Given the description of an element on the screen output the (x, y) to click on. 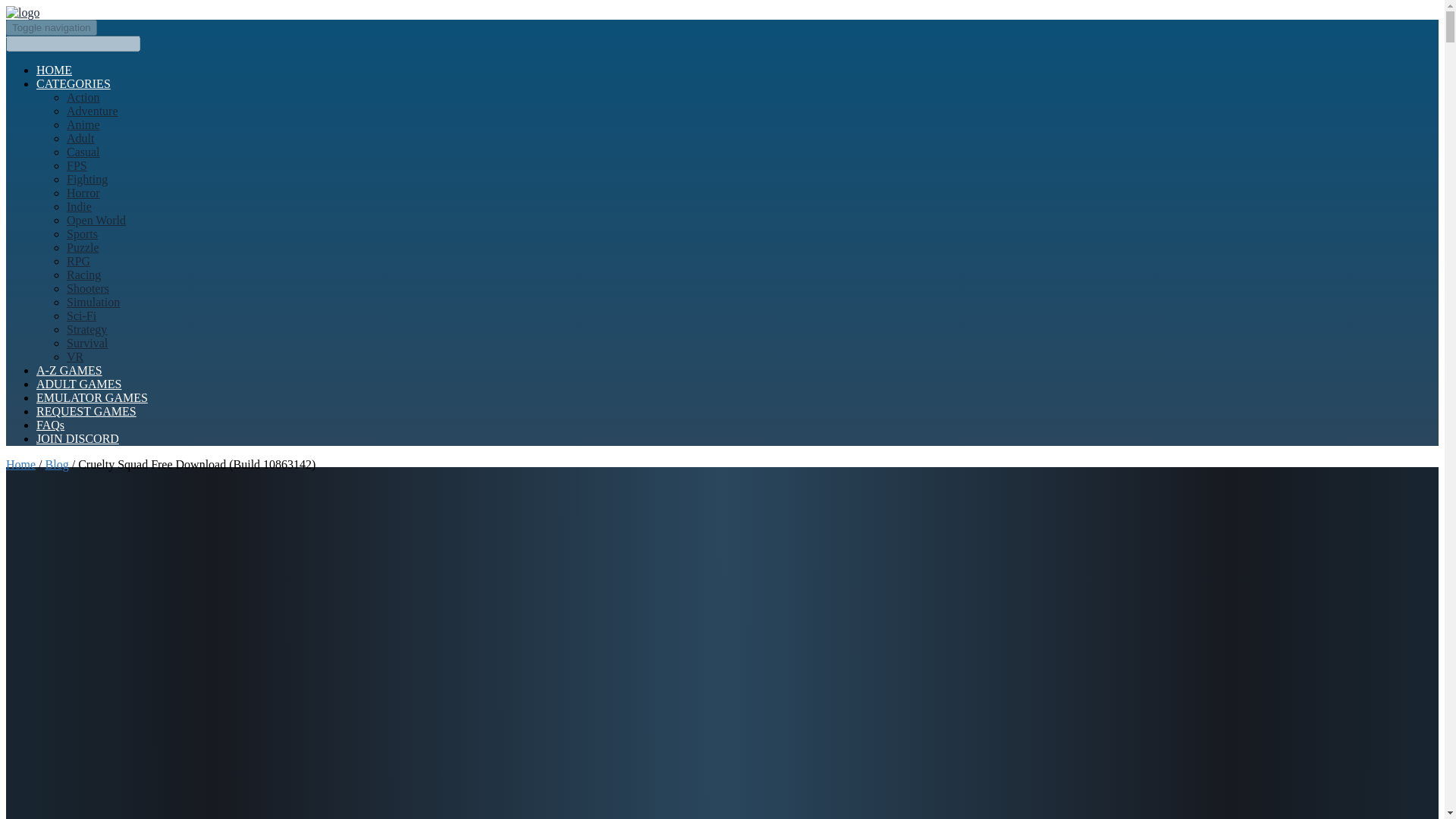
Simulation (92, 301)
Action (83, 97)
REQUEST GAMES (86, 410)
Home (19, 463)
Casual (83, 151)
Strategy (86, 328)
Adult (80, 137)
CATEGORIES (73, 83)
Sci-Fi (81, 315)
HOME (53, 69)
FAQs (50, 424)
Racing (83, 274)
Sports (81, 233)
Indie (78, 205)
Fighting (86, 178)
